Given the description of an element on the screen output the (x, y) to click on. 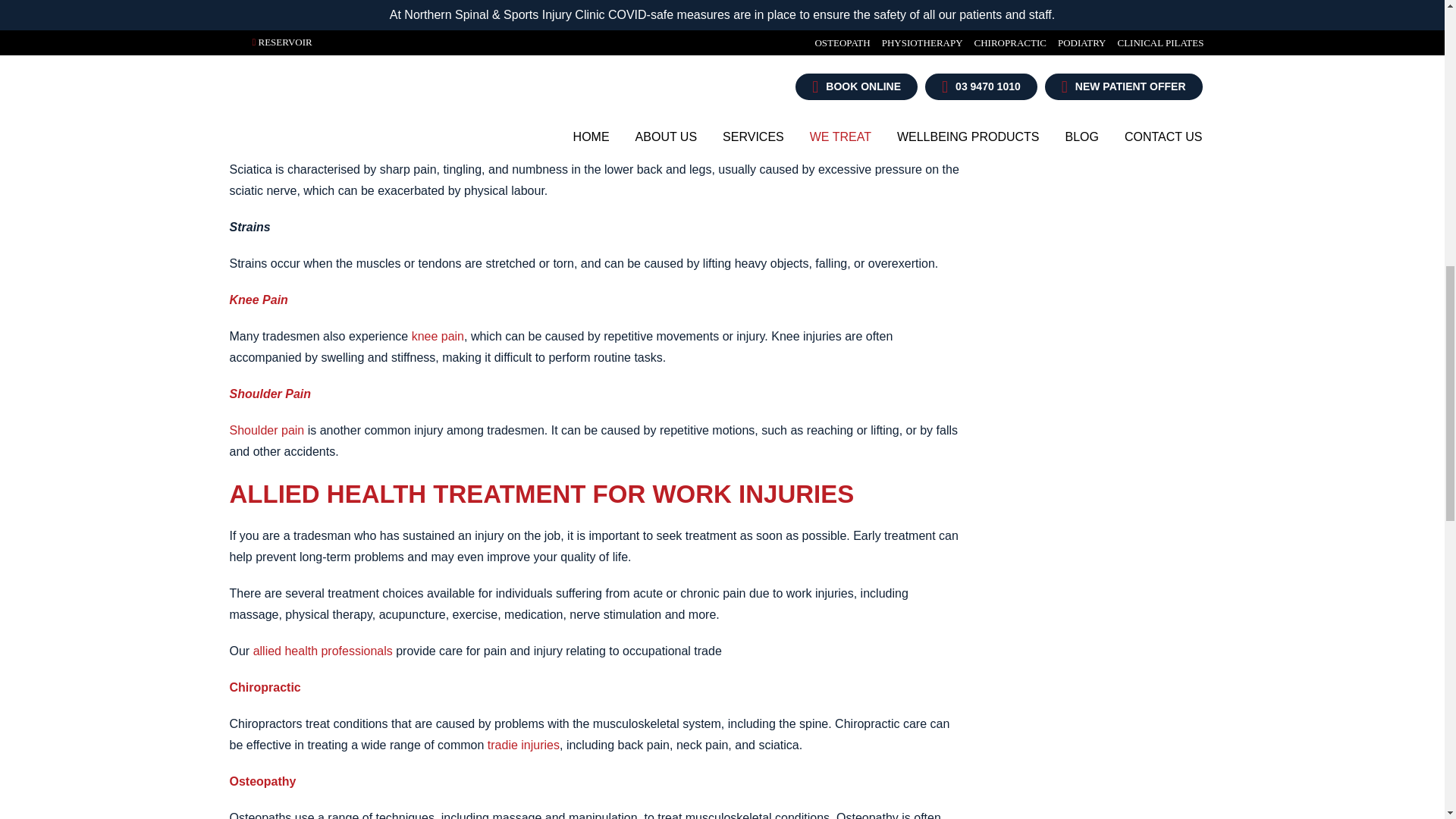
Osteo (261, 780)
Chiro (263, 686)
Neck Pain (255, 74)
Knee Pain (438, 336)
Workplace Injuries (523, 744)
Shoulder Pain (266, 430)
